Given the description of an element on the screen output the (x, y) to click on. 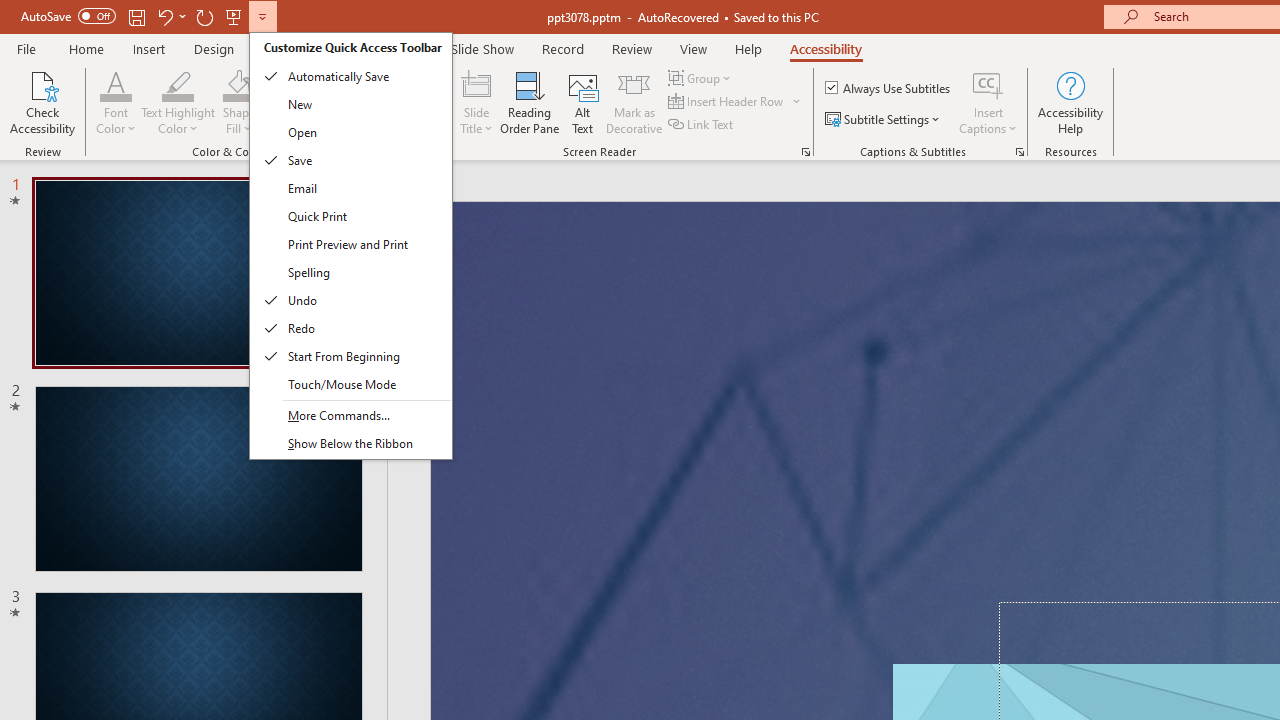
Slide Title (476, 84)
Always Use Subtitles (889, 87)
Group (701, 78)
Slide Title (476, 102)
